Given the description of an element on the screen output the (x, y) to click on. 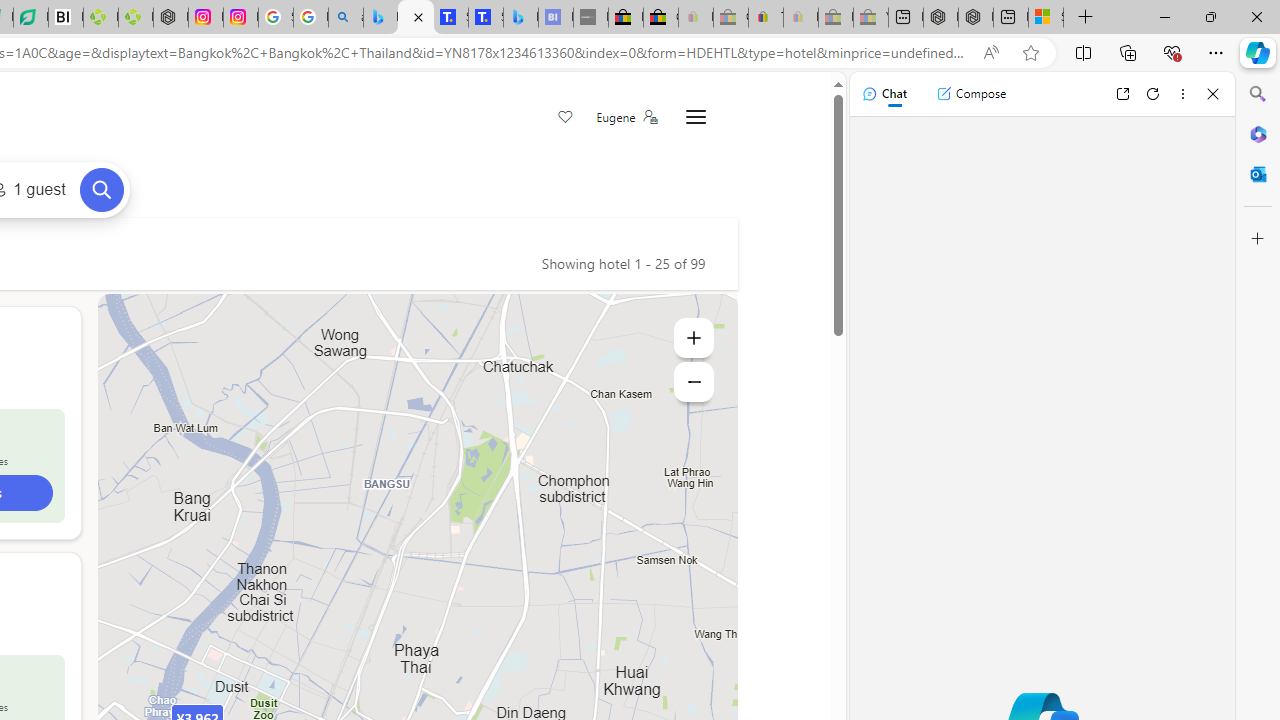
LendingTree - Compare Lenders (31, 17)
Nvidia va a poner a prueba la paciencia de los inversores (65, 17)
Sign in to your Microsoft account (1046, 17)
Compose (971, 93)
Safety in Our Products - Google Safety Center (275, 17)
Microsoft Bing Travel - Flights from Hong Kong to Bangkok (380, 17)
Shangri-La Bangkok, Hotel reviews and Room rates (485, 17)
